Given the description of an element on the screen output the (x, y) to click on. 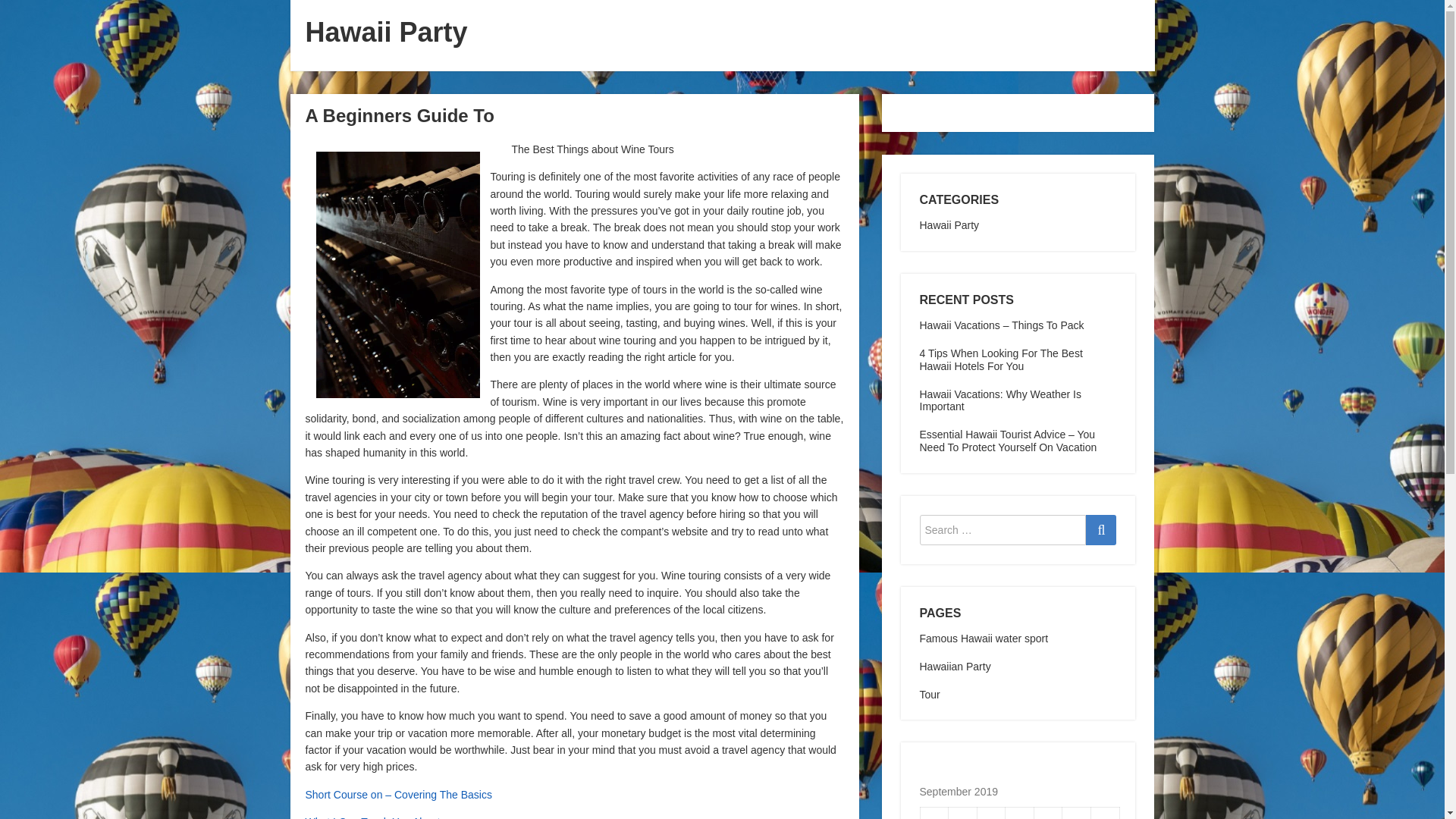
Famous Hawaii water sport (983, 638)
Monday (934, 812)
Tour (928, 694)
Sunday (1104, 812)
Hawaii Party (385, 31)
Thursday (1019, 812)
Friday (1047, 812)
Wednesday (991, 812)
4 Tips When Looking For The Best Hawaii Hotels For You (999, 359)
Hawaii Vacations: Why Weather Is Important (999, 400)
Hawaiian Party (954, 666)
Saturday (1076, 812)
Tuesday (962, 812)
Hawaii Party (948, 224)
What I Can Teach You About (371, 817)
